Given the description of an element on the screen output the (x, y) to click on. 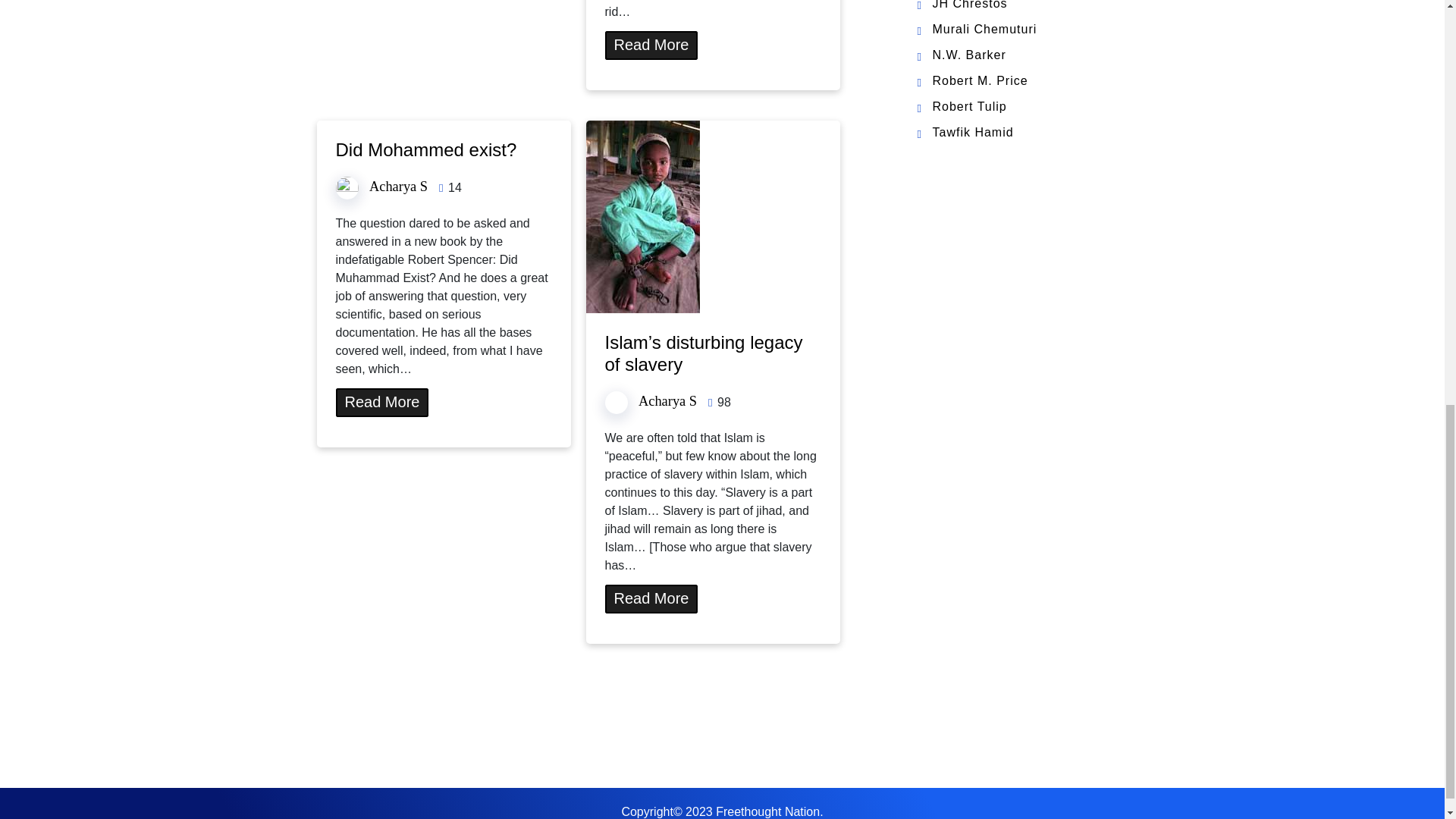
Read More (381, 402)
Acharya S (398, 186)
Murali Chemuturi (984, 29)
Acharya S (668, 400)
Robert Tulip (970, 106)
JH Chrestos (970, 4)
Robert M. Price (980, 80)
Read More (651, 45)
N.W. Barker (969, 54)
Did Mohammed exist? (425, 149)
